Given the description of an element on the screen output the (x, y) to click on. 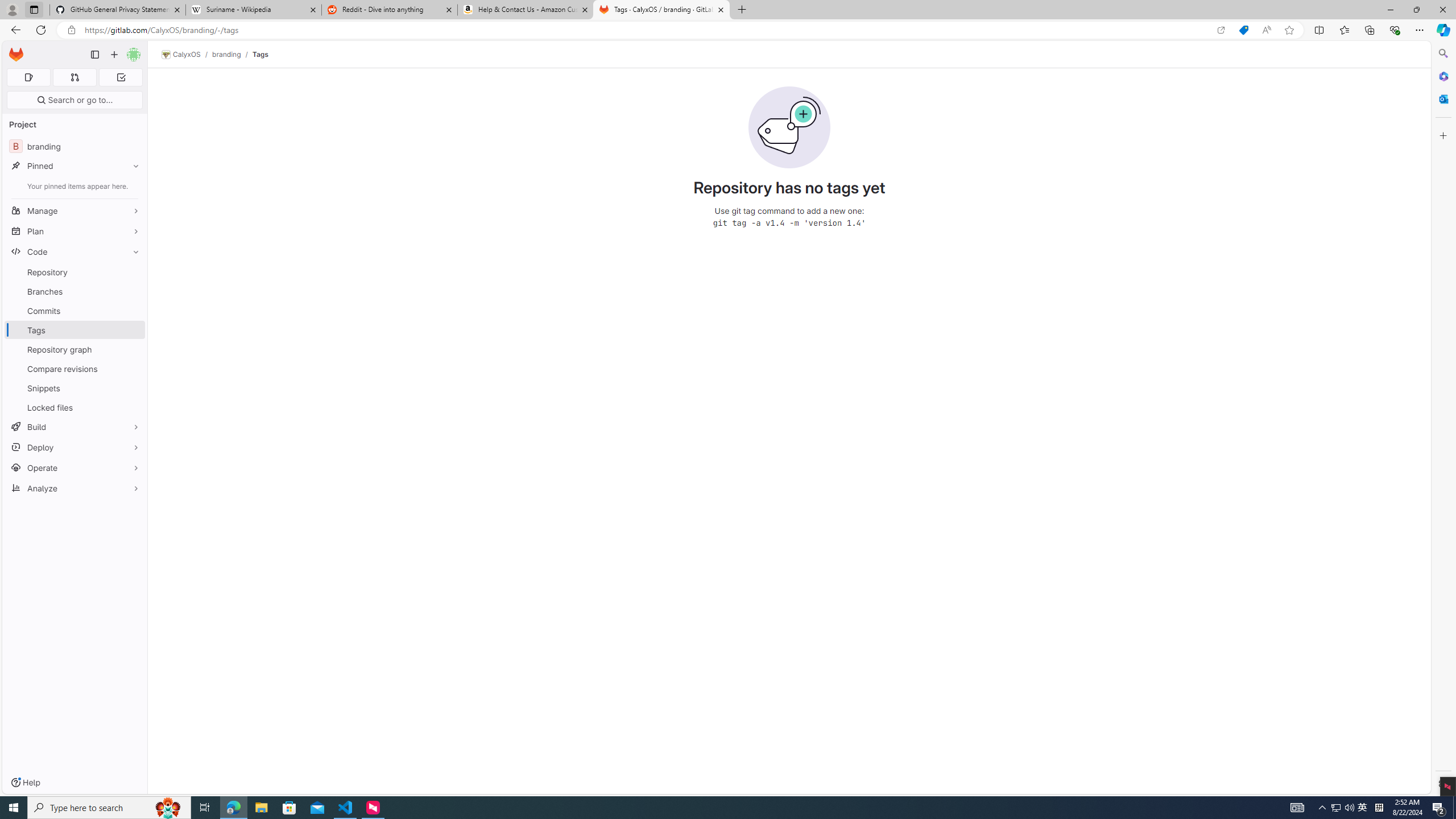
Snippets (74, 387)
Pin Branches (132, 291)
B branding (74, 145)
Suriname - Wikipedia (253, 9)
Homepage (16, 54)
